Given the description of an element on the screen output the (x, y) to click on. 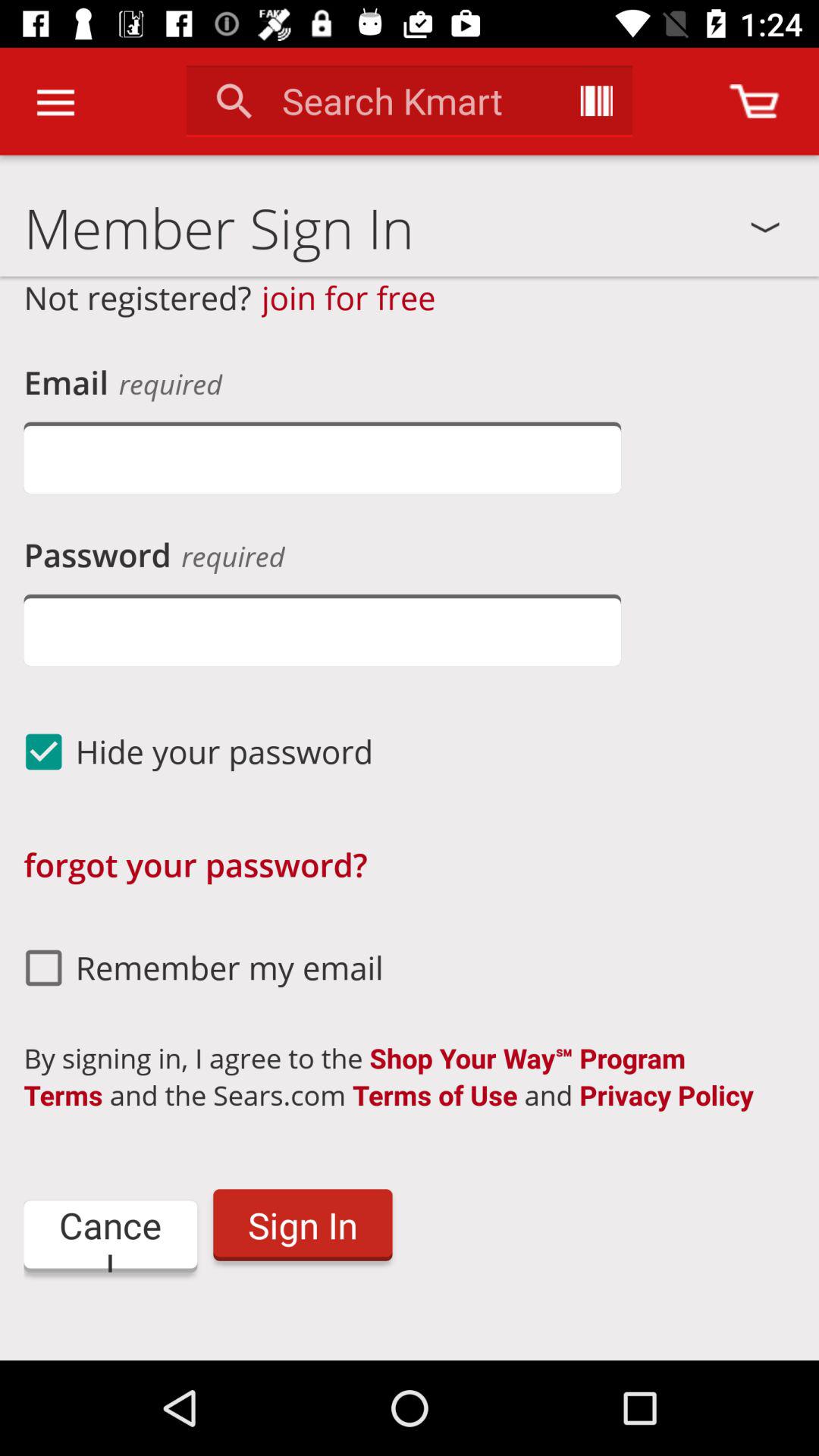
open the item above password (322, 457)
